Given the description of an element on the screen output the (x, y) to click on. 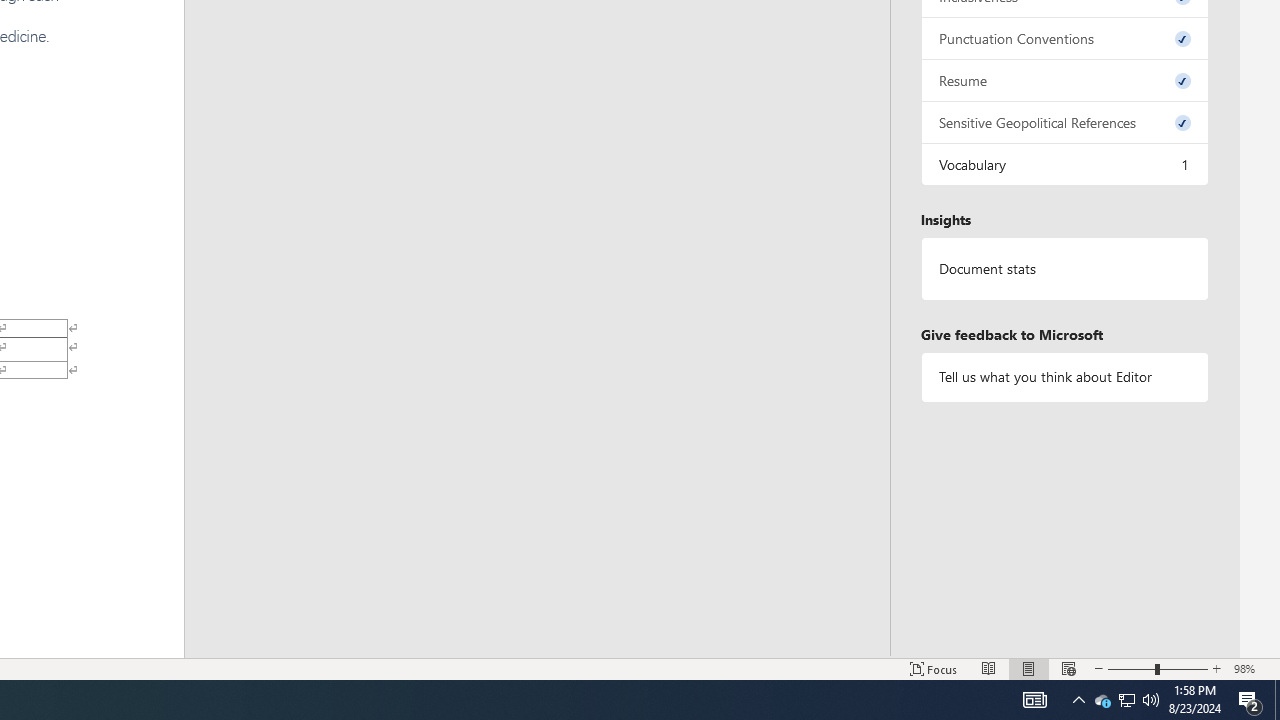
Tell us what you think about Editor (1064, 376)
Web Layout (1069, 668)
Vocabulary, 1 issue. Press space or enter to review items. (1064, 164)
Zoom (1158, 668)
Print Layout (1028, 668)
Zoom Out (1131, 668)
Zoom In (1217, 668)
Document statistics (1064, 269)
Resume, 0 issues. Press space or enter to review items. (1064, 79)
Focus  (934, 668)
Read Mode (988, 668)
